Given the description of an element on the screen output the (x, y) to click on. 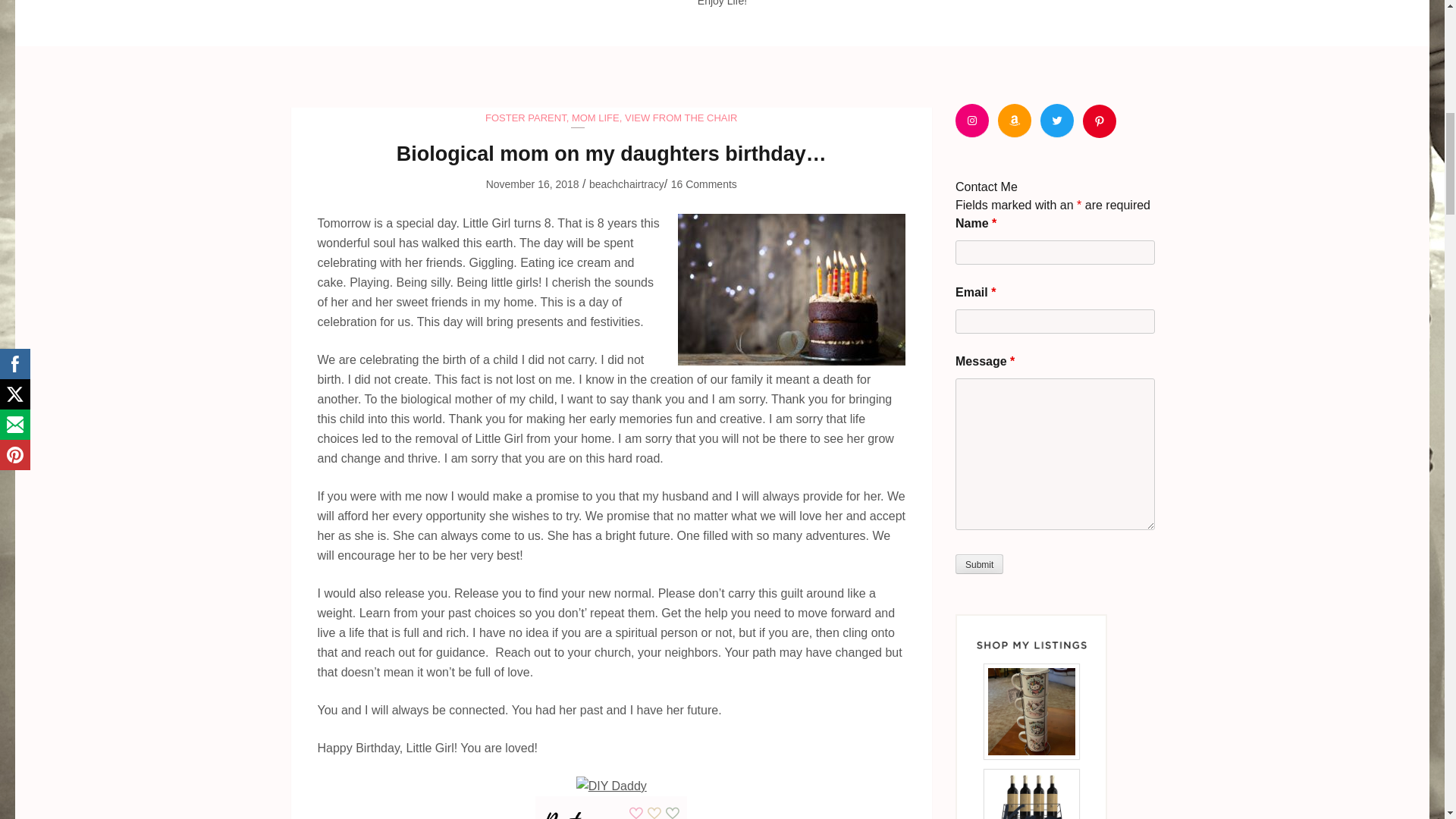
beachchairtracy (626, 184)
November 16, 2018 (532, 184)
16 Comments (703, 184)
VIEW FROM THE CHAIR (681, 117)
DIY Daddy (611, 785)
Submit (979, 564)
MOM LIFE (596, 117)
PoCoLo  (611, 805)
FOSTER PARENT (525, 117)
